Given the description of an element on the screen output the (x, y) to click on. 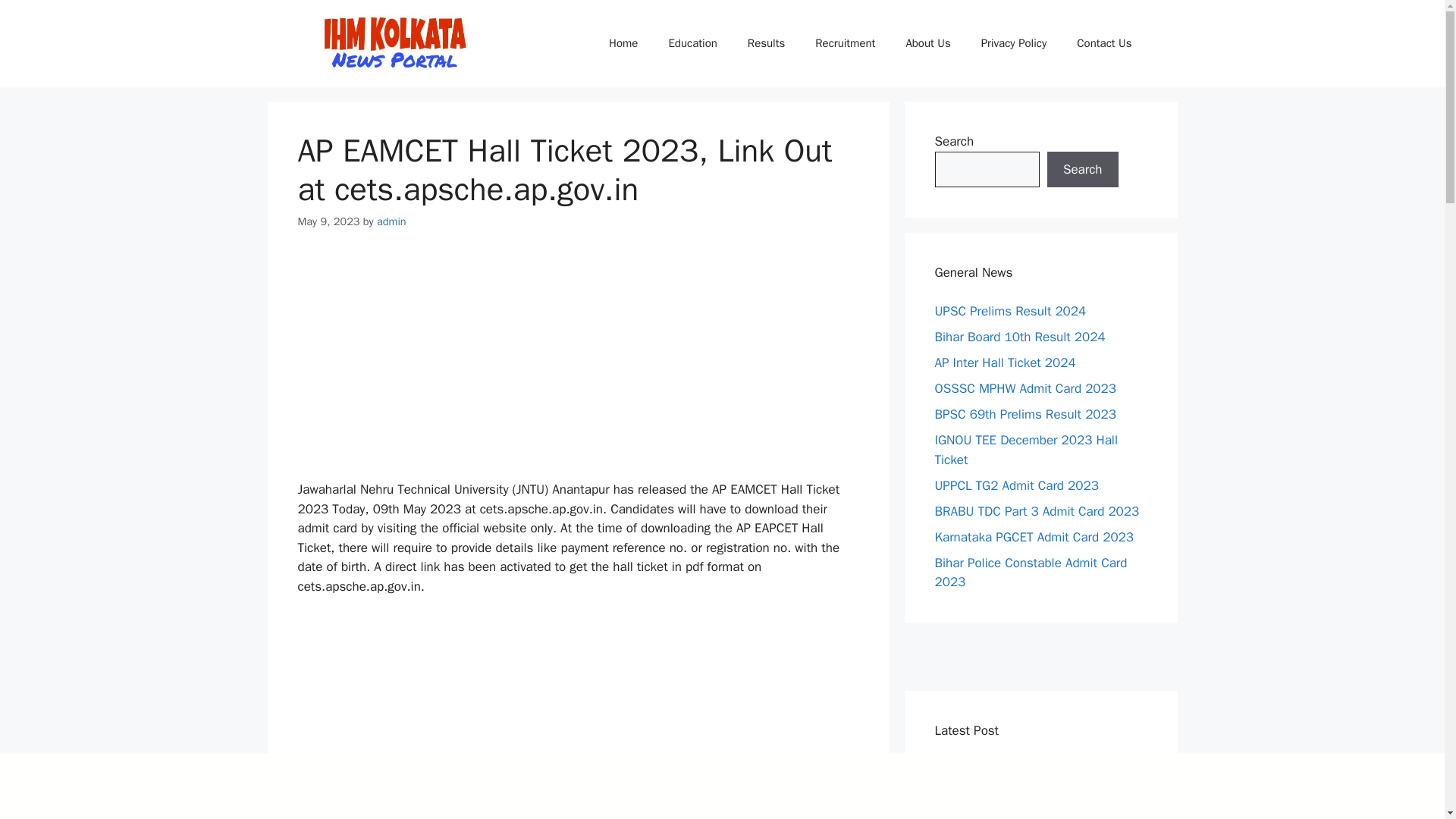
AP Inter Hall Ticket 2024 (1004, 362)
Privacy Policy (1014, 43)
admin (391, 221)
Results (765, 43)
BPSC 69th Prelims Result 2023 (1024, 414)
Advertisement (577, 717)
Bihar Police Constable Admit Card 2023 (1030, 572)
Search (1082, 169)
UPPCL TG2 Admit Card 2023 (1015, 485)
Education (692, 43)
